Given the description of an element on the screen output the (x, y) to click on. 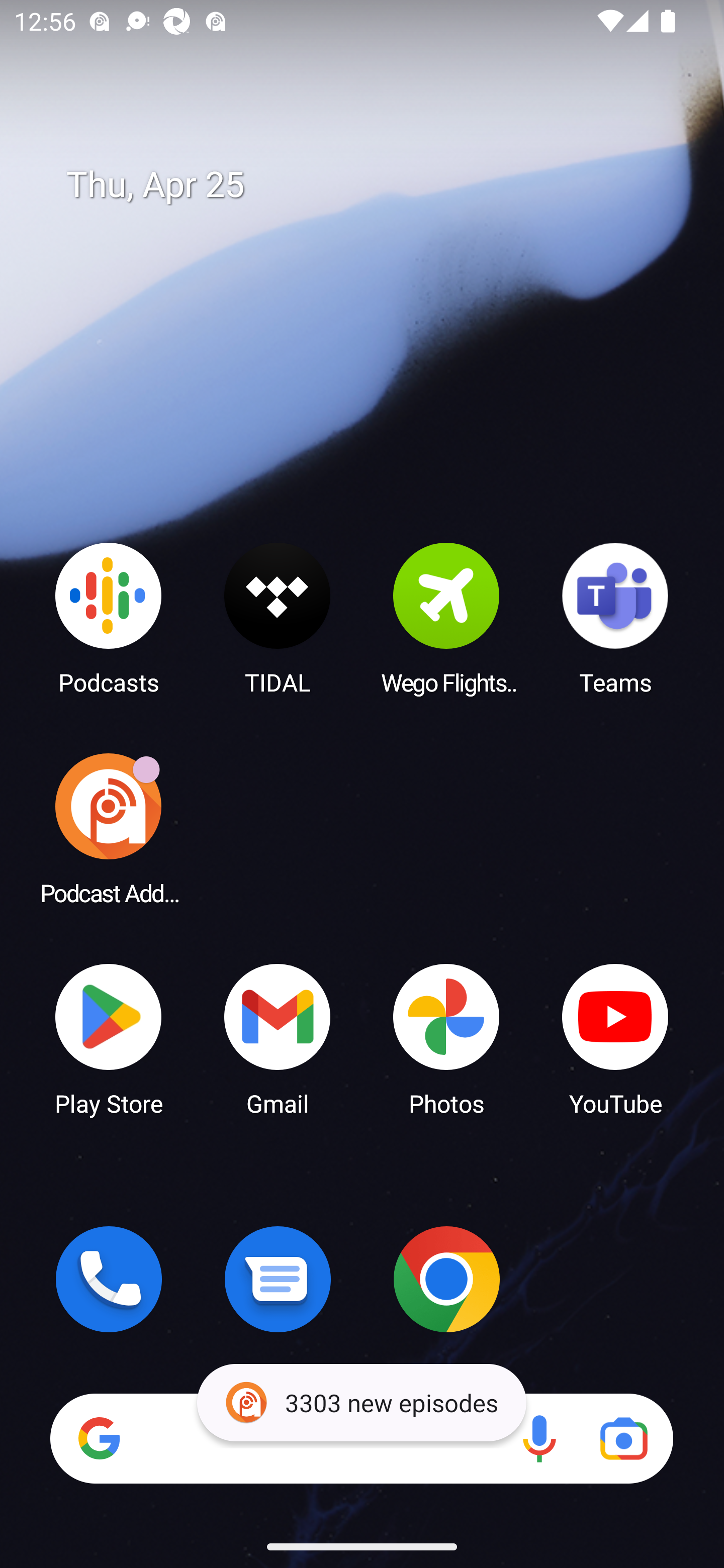
Thu, Apr 25 (375, 184)
Podcasts (108, 617)
TIDAL (277, 617)
Wego Flights & Hotels (445, 617)
Teams (615, 617)
Play Store (108, 1038)
Gmail (277, 1038)
Photos (445, 1038)
YouTube (615, 1038)
Phone (108, 1279)
Messages (277, 1279)
Chrome (446, 1279)
Search Voice search Google Lens (361, 1438)
Voice search (539, 1438)
Google Lens (623, 1438)
